Given the description of an element on the screen output the (x, y) to click on. 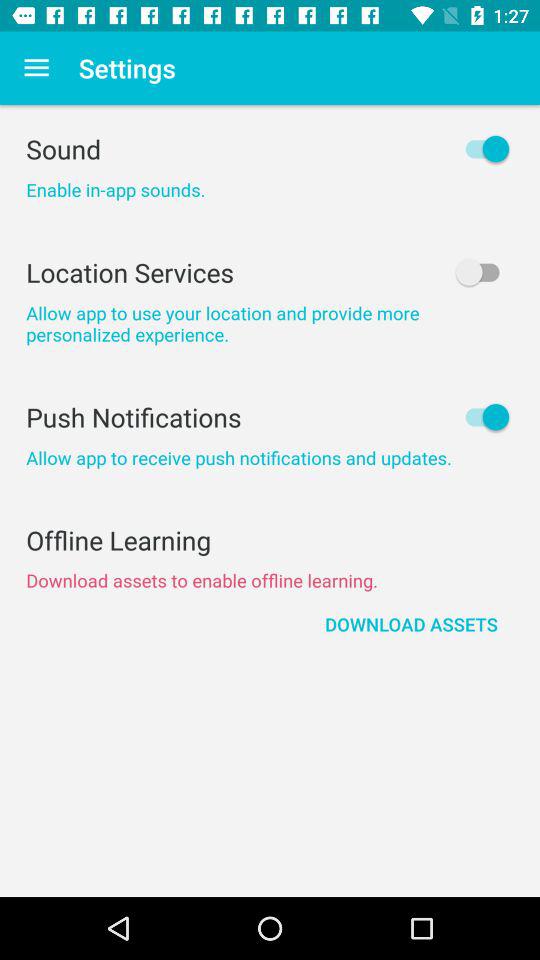
choose the icon below enable in app item (269, 272)
